Given the description of an element on the screen output the (x, y) to click on. 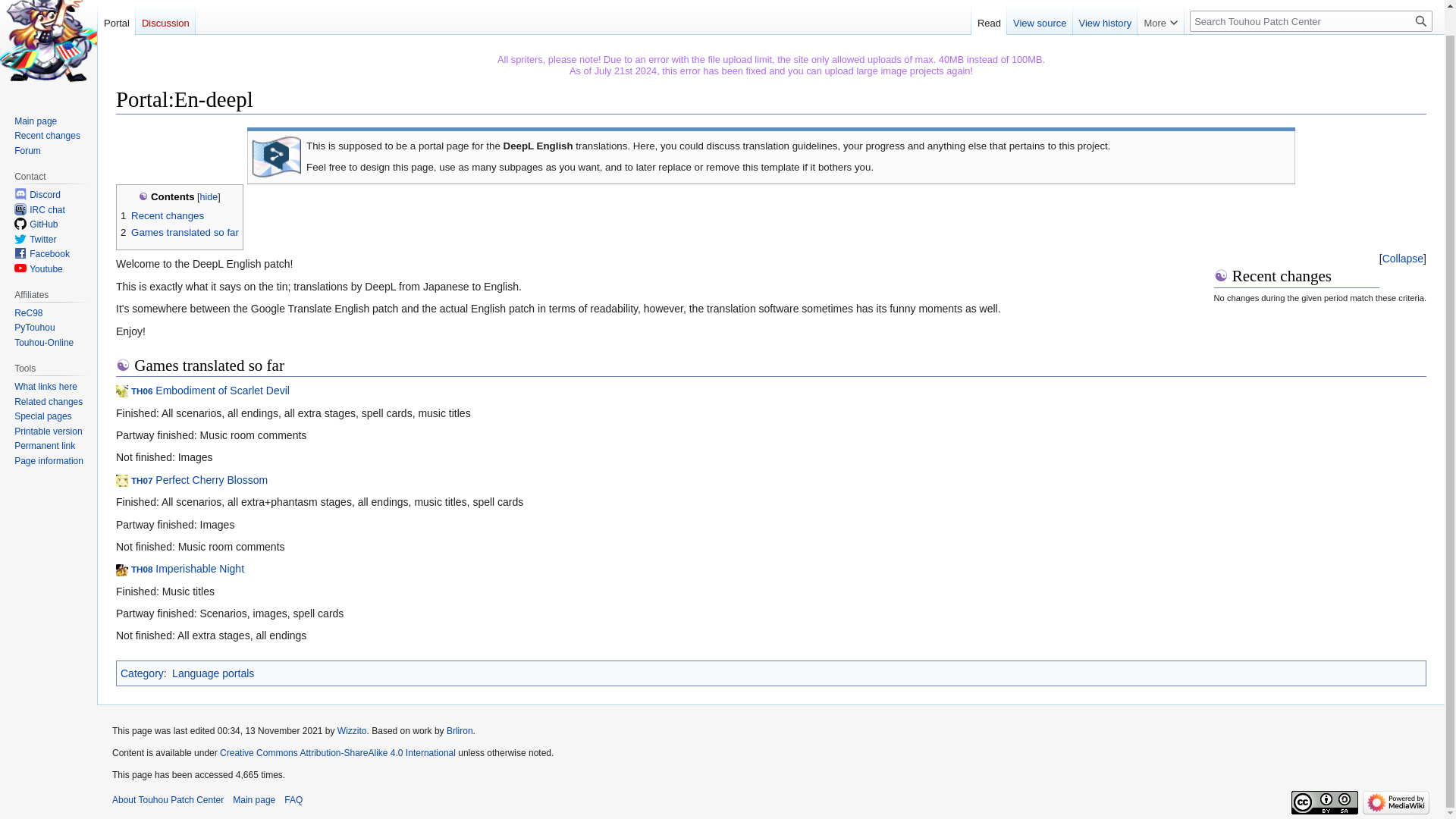
Collapse (1402, 258)
Go (1420, 21)
Portal (116, 19)
More options (1160, 19)
IRC chat (47, 209)
Twitter (42, 239)
Th08 (187, 568)
TH07 Perfect Cherry Blossom (199, 480)
Forum (27, 150)
Search (1420, 21)
Th06 (210, 390)
View history (1105, 19)
Search (1420, 21)
Special:Categories (141, 673)
